Given the description of an element on the screen output the (x, y) to click on. 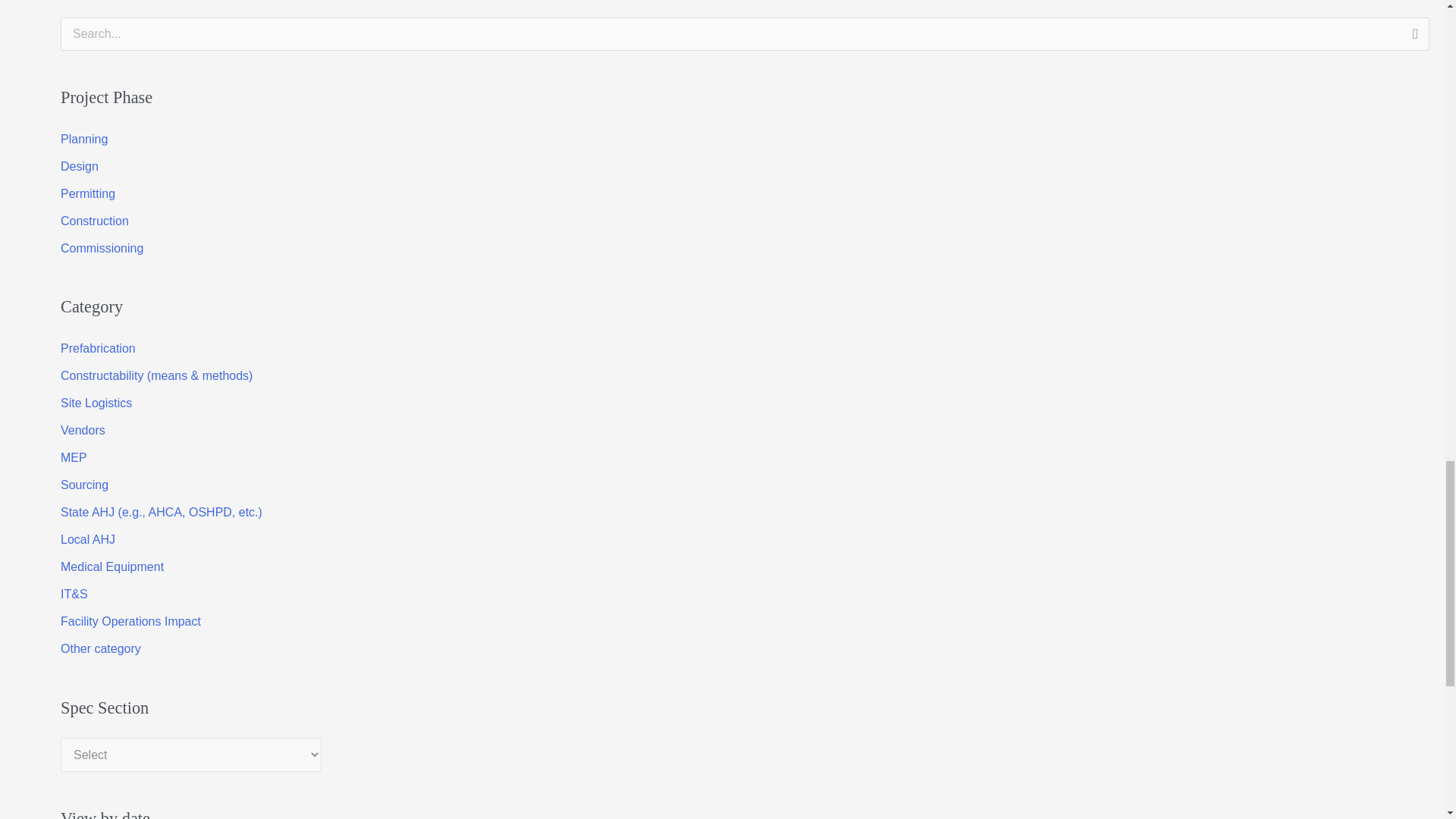
Commissioning (101, 246)
MEP (74, 457)
Planning (84, 137)
Other category (101, 648)
Site Logistics (96, 402)
Prefabrication (98, 348)
Permitting (88, 192)
Facility Operations Impact (130, 621)
Vendors (82, 430)
Construction (95, 219)
